Given the description of an element on the screen output the (x, y) to click on. 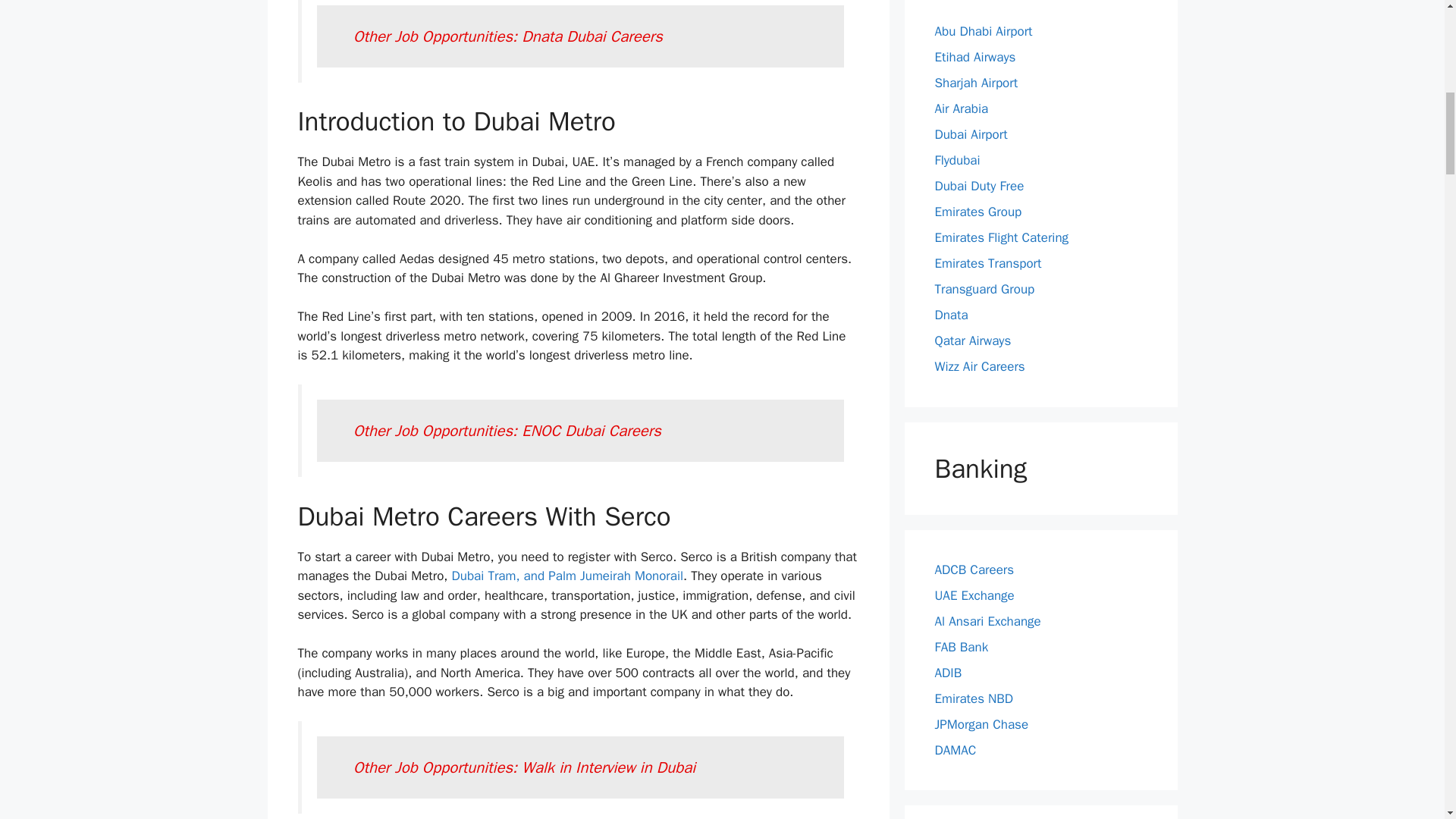
Dubai Tram, and Palm Jumeirah Monorail (567, 575)
ENOC Dubai Careers (591, 430)
Dnata Dubai Careers (591, 35)
Walk in Interview in Dubai (608, 767)
